Given the description of an element on the screen output the (x, y) to click on. 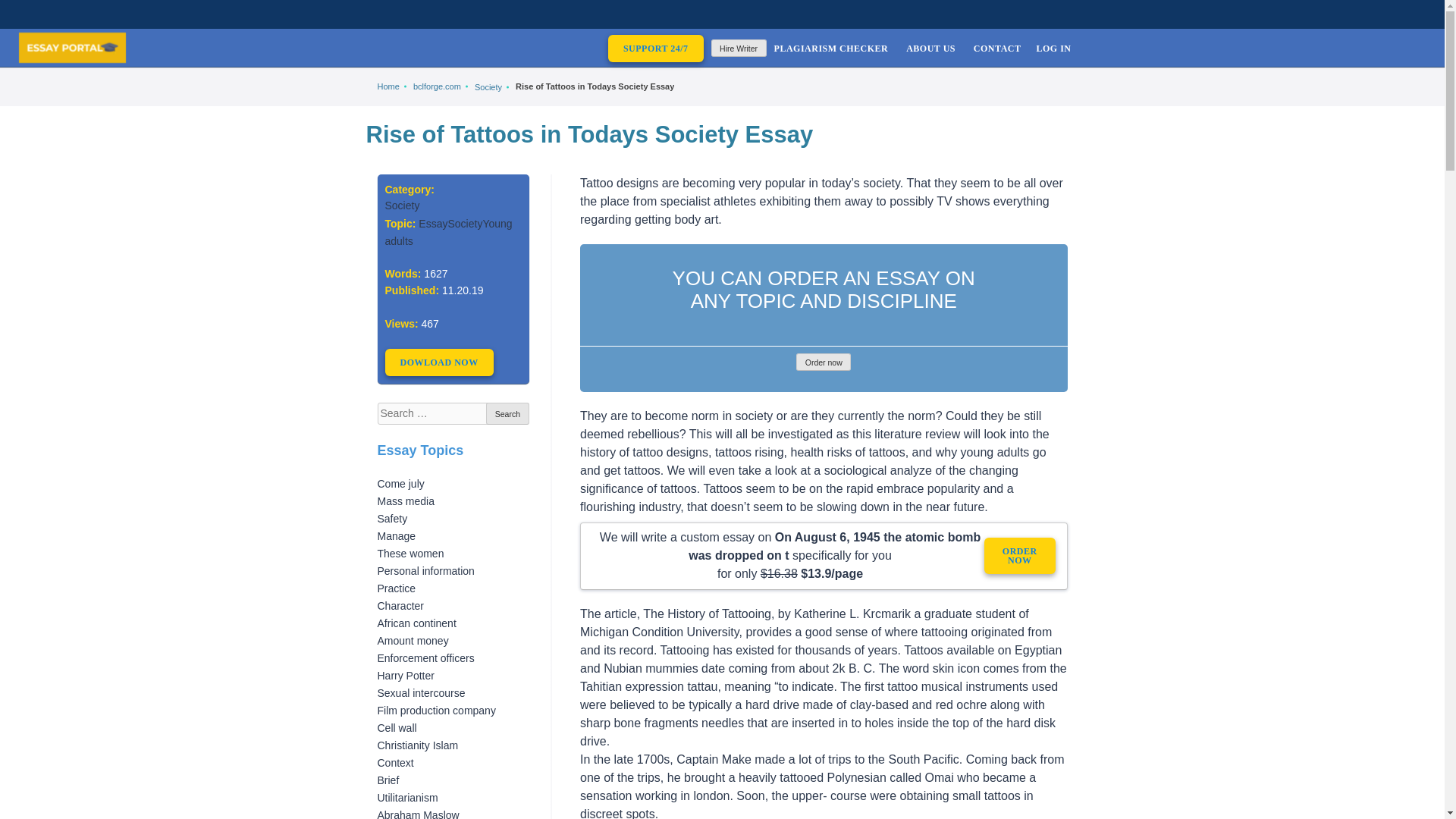
ABOUT US (930, 47)
Character (400, 605)
Context (395, 762)
Utilitarianism (407, 797)
Personal information (425, 571)
Cell wall (396, 727)
Essay (432, 223)
Search (507, 413)
Practice (396, 588)
These women (410, 553)
Society (402, 205)
Manage (396, 535)
Mass media (405, 500)
Harry Potter (405, 675)
Enforcement officers (425, 657)
